Given the description of an element on the screen output the (x, y) to click on. 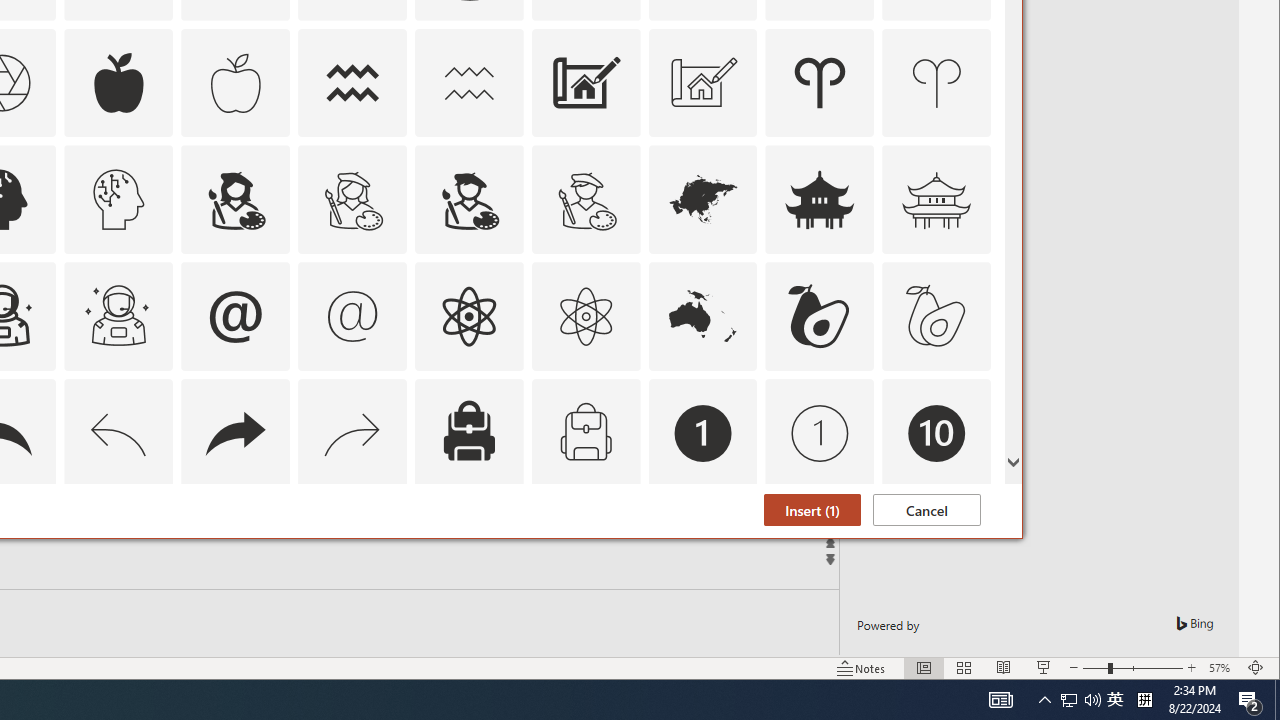
AutomationID: Icons_Badge7_M (468, 550)
AutomationID: Icons_Badge9_M (936, 550)
Thumbnail (975, 511)
AutomationID: Icons_Atom (468, 316)
AutomationID: Icons_Backpack_M (586, 434)
AutomationID: Icons_Badge6 (118, 550)
AutomationID: Icons_Australia (702, 316)
AutomationID: Icons_Badge6_M (235, 550)
